Given the description of an element on the screen output the (x, y) to click on. 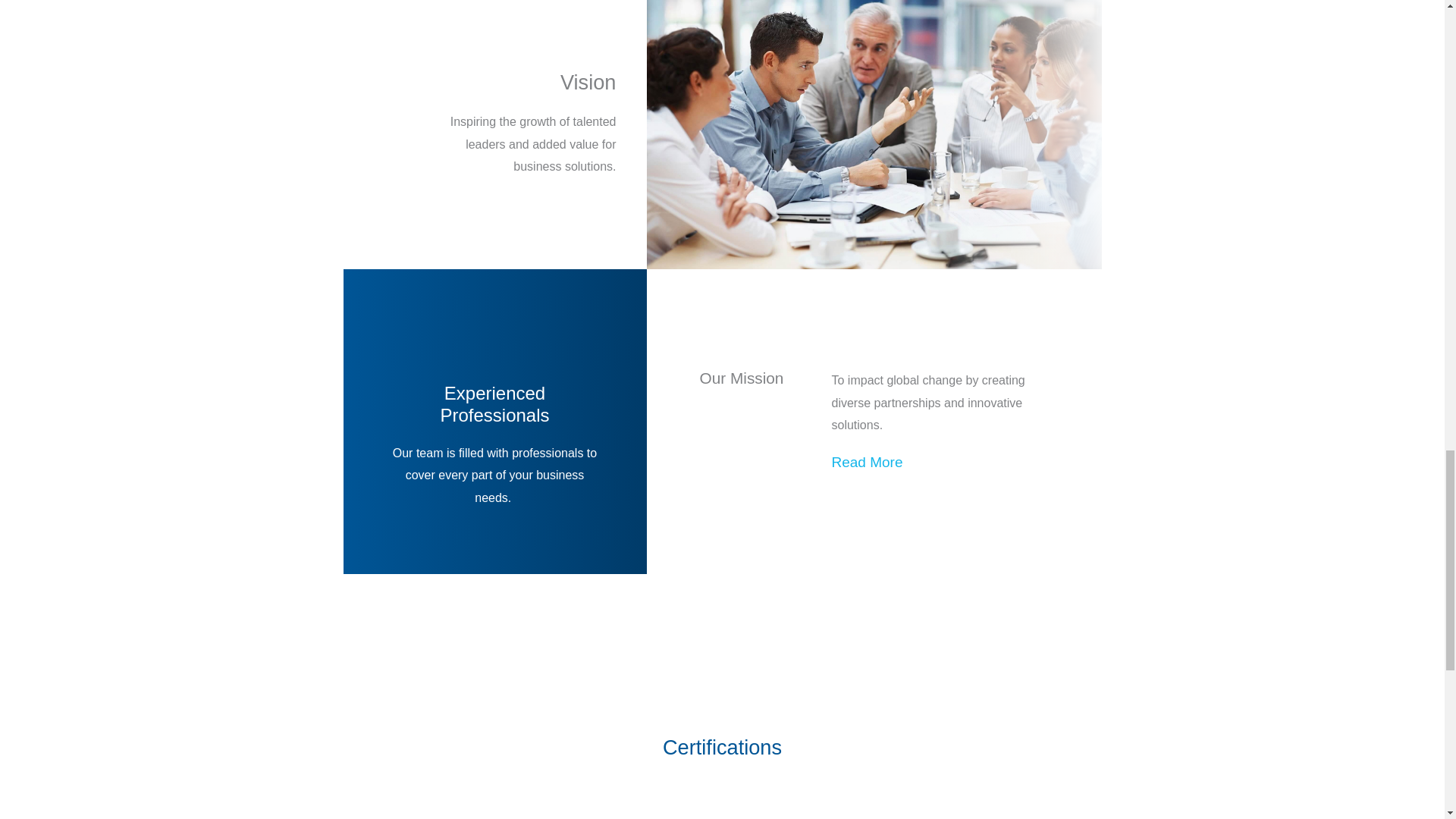
Read More (866, 462)
